Given the description of an element on the screen output the (x, y) to click on. 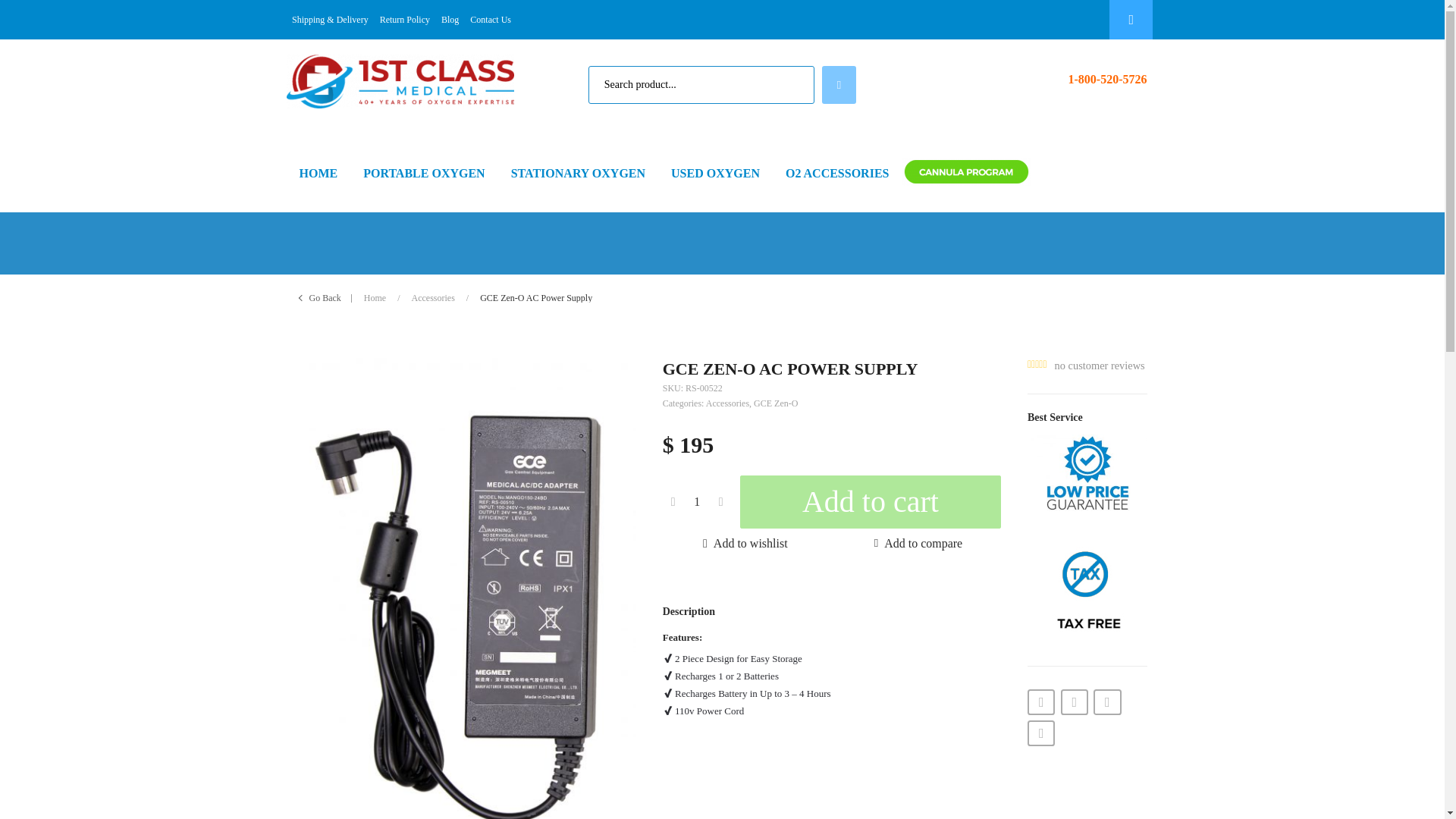
Add to wishlist (745, 552)
Add to compare (918, 552)
PORTABLE OXYGEN (423, 173)
Go Back (324, 297)
STATIONARY OXYGEN (577, 173)
Accessories (727, 403)
HOME (318, 173)
O2 ACCESSORIES (837, 173)
USED OXYGEN (715, 173)
Add to cart (870, 501)
GCE Zen-O (775, 403)
Rated 0 out of 5 (1036, 364)
Blog (455, 19)
Home (374, 297)
Contact Us (496, 19)
